Given the description of an element on the screen output the (x, y) to click on. 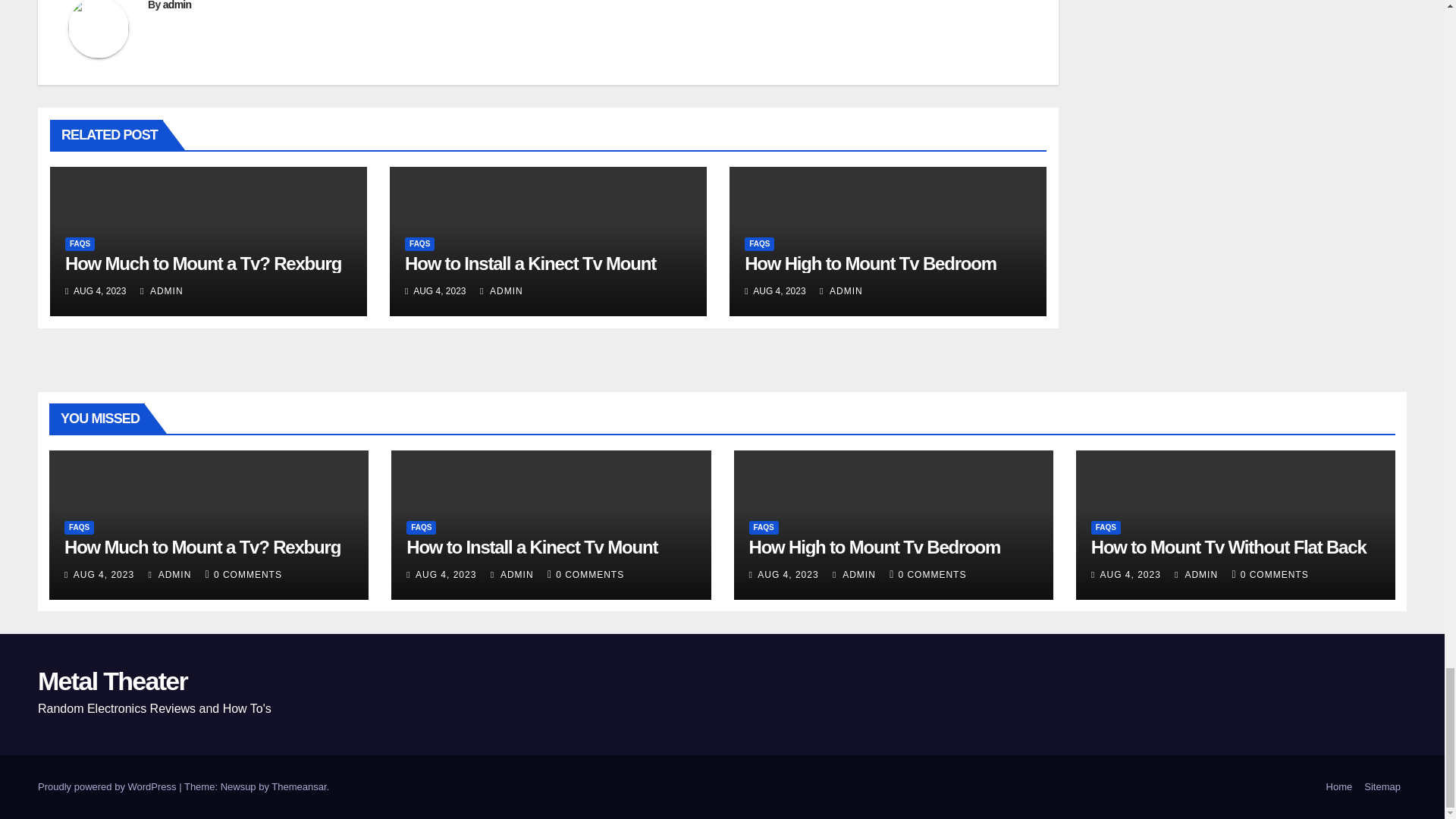
Permalink to: How to Install a Kinect Tv Mount (530, 263)
Permalink to: How Much to Mount a Tv? Rexburg (202, 263)
